Given the description of an element on the screen output the (x, y) to click on. 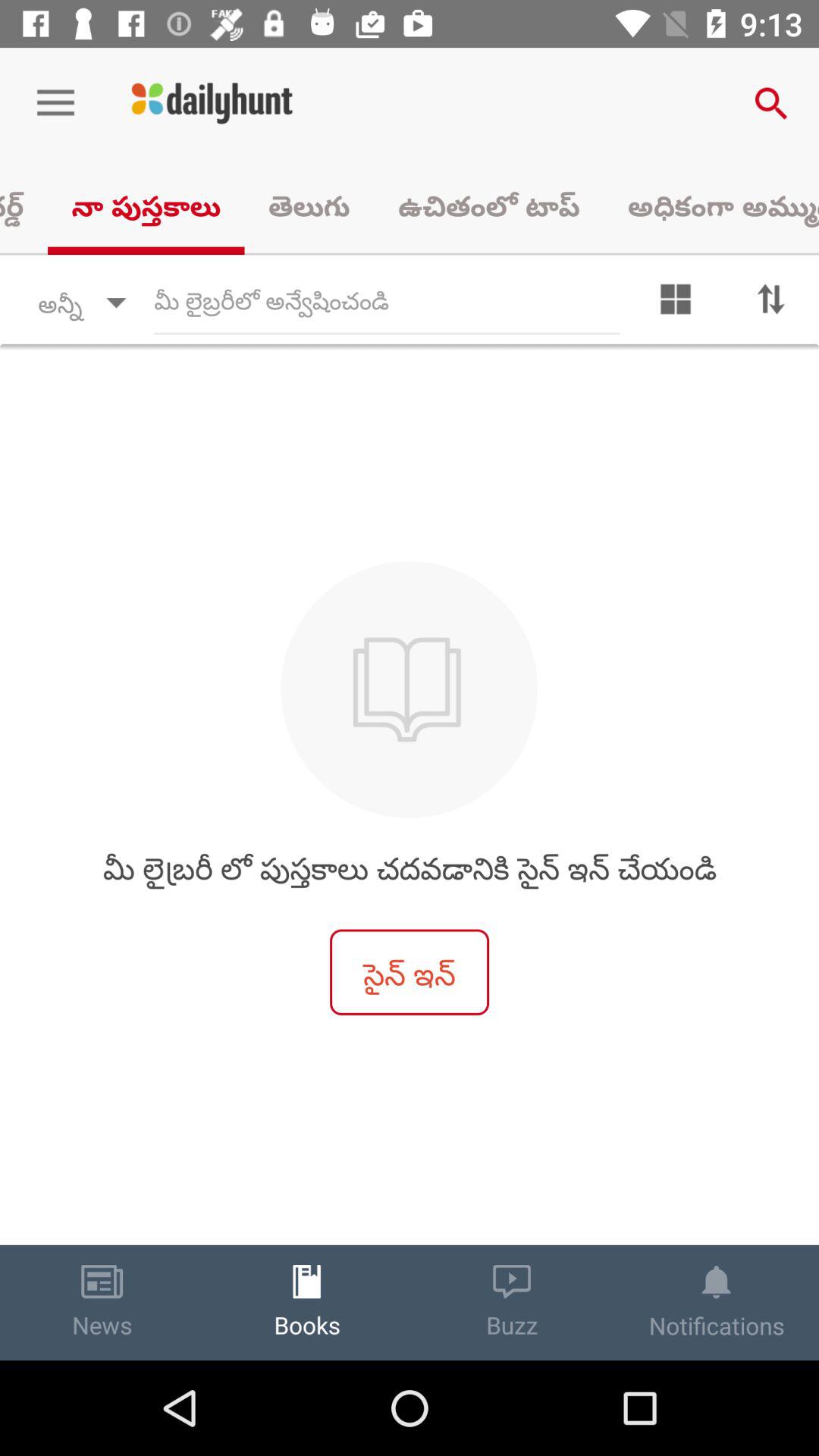
type the text (386, 302)
